Given the description of an element on the screen output the (x, y) to click on. 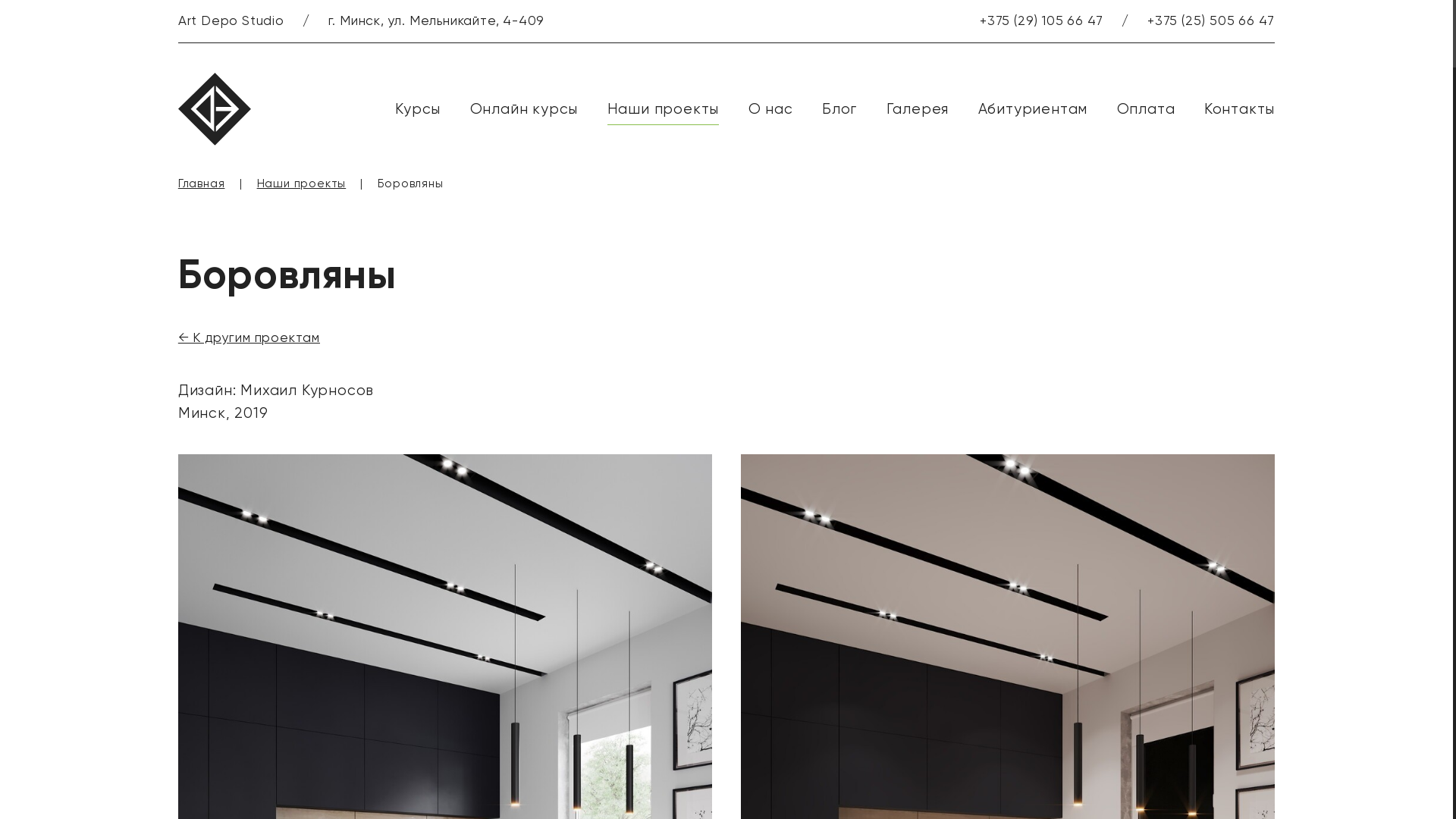
+375 (29) 105 66 47 Element type: text (1041, 20)
+375 (25) 505 66 47 Element type: text (1210, 20)
